Given the description of an element on the screen output the (x, y) to click on. 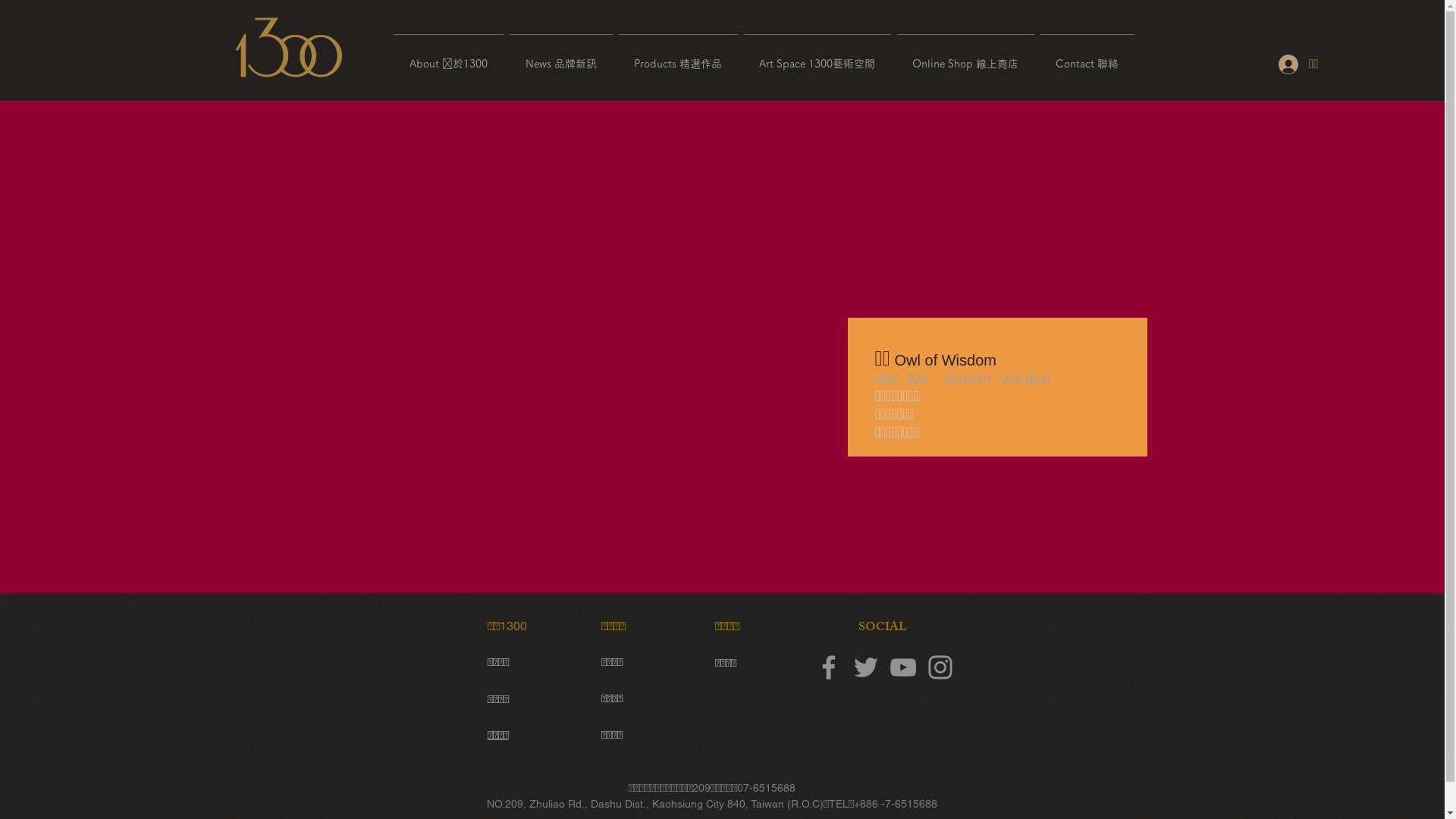
External YouTube Element type: hover (544, 344)
